Given the description of an element on the screen output the (x, y) to click on. 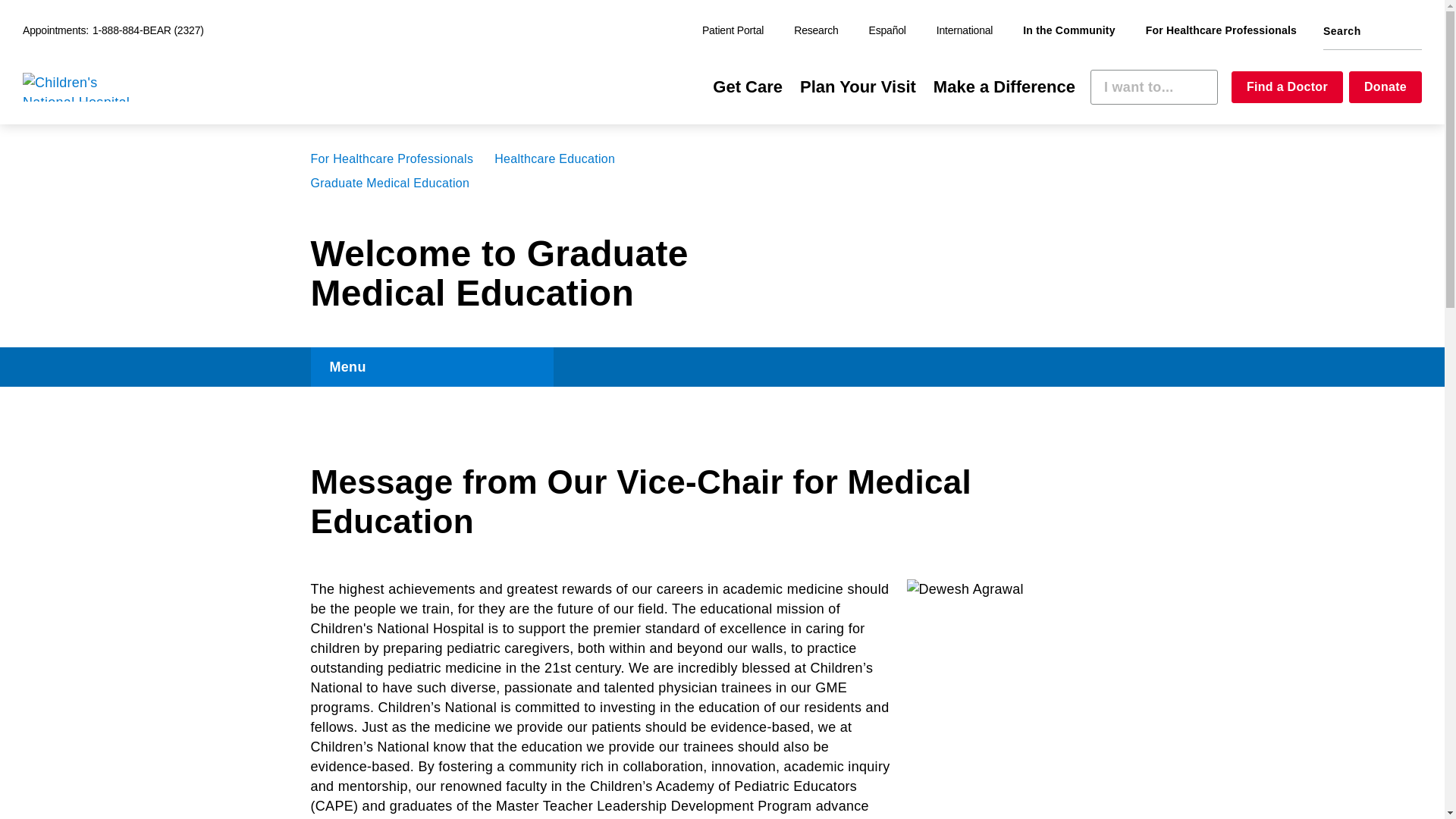
International (964, 30)
Research (815, 30)
Patient Portal (732, 30)
In the Community (1068, 30)
For Healthcare Professionals (1220, 30)
